Given the description of an element on the screen output the (x, y) to click on. 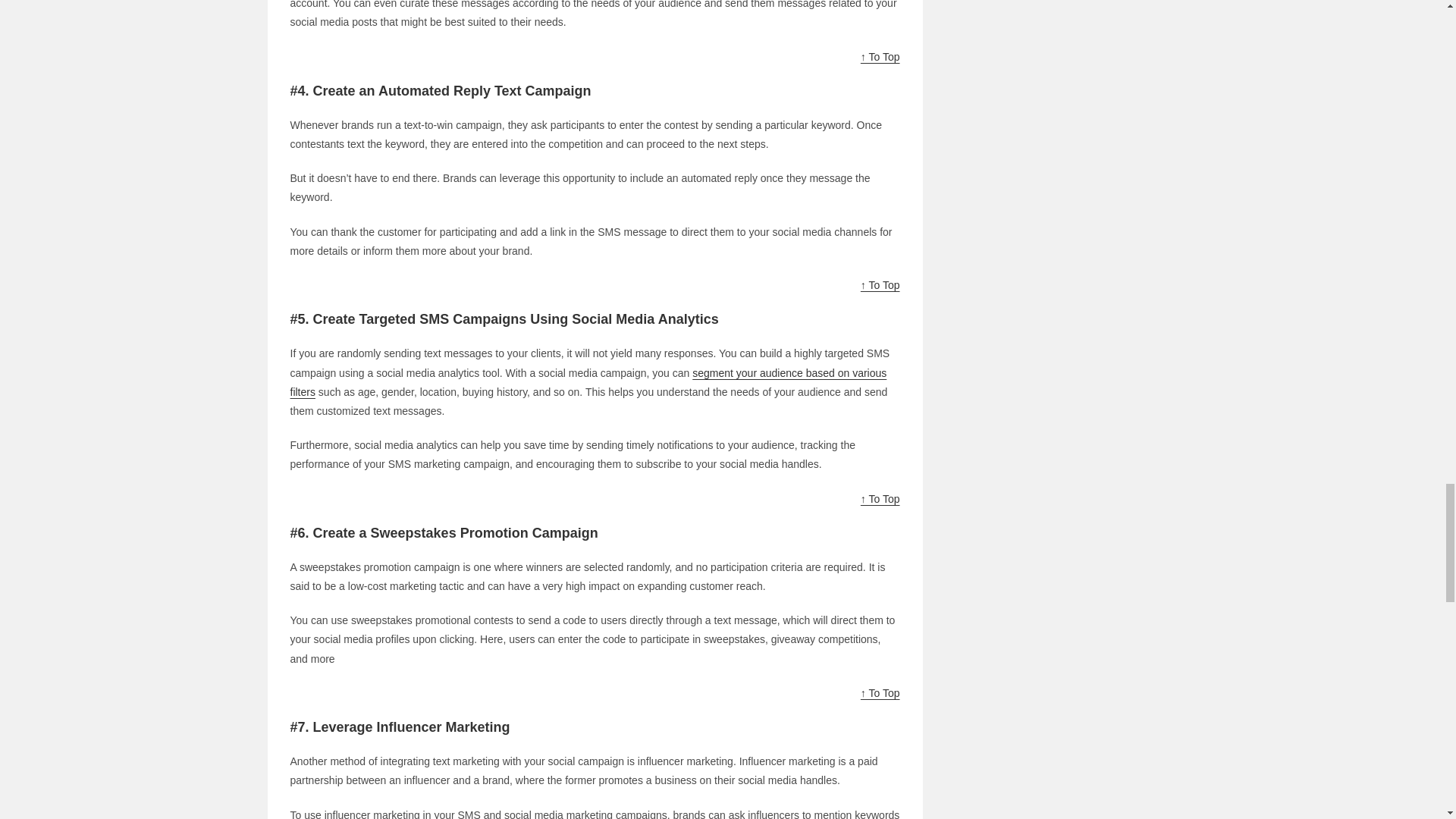
segment your audience based on various filters (587, 382)
